Given the description of an element on the screen output the (x, y) to click on. 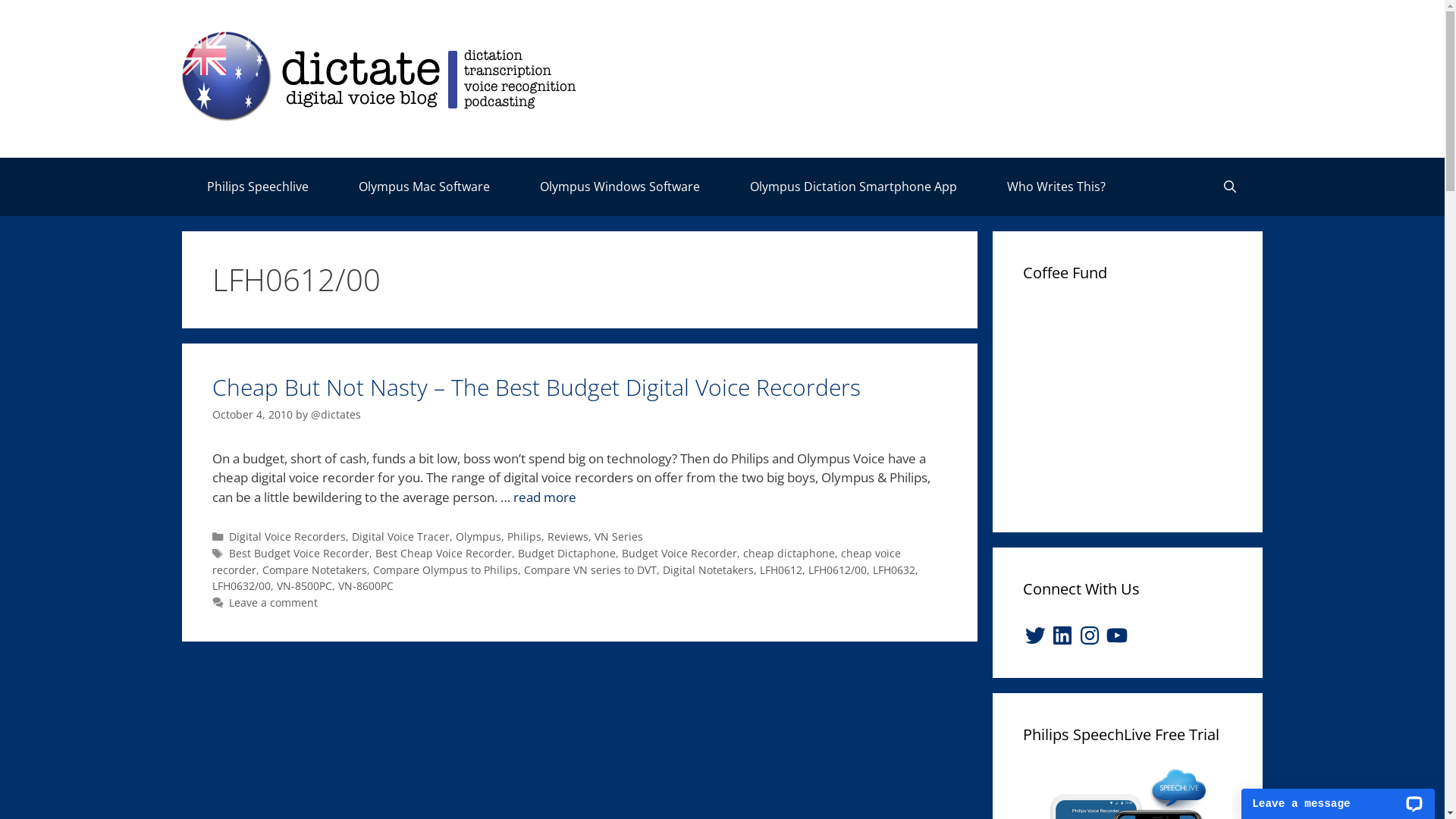
read more Element type: text (544, 496)
Compare VN series to DVT Element type: text (590, 569)
Olympus Windows Software Element type: text (619, 186)
LFH0632/00 Element type: text (241, 585)
Leave a comment Element type: text (273, 602)
Philips Speechlive Element type: text (257, 186)
Best Cheap Voice Recorder Element type: text (443, 553)
VN-8500PC Element type: text (304, 585)
Olympus Dictation Smartphone App Element type: text (853, 186)
Budget Voice Recorder Element type: text (679, 553)
YouTube Element type: text (1116, 635)
Olympus Element type: text (478, 536)
Digital Voice Tracer Element type: text (400, 536)
Compare Notetakers Element type: text (314, 569)
VN Series Element type: text (618, 536)
Instagram Element type: text (1089, 635)
Philips Element type: text (524, 536)
Twitter Element type: text (1034, 635)
Olympus Mac Software Element type: text (423, 186)
VN-8600PC Element type: text (365, 585)
LFH0612 Element type: text (780, 569)
Reviews Element type: text (567, 536)
@dictates Element type: text (335, 414)
cheap voice recorder Element type: text (556, 561)
Advertisement Element type: hover (1136, 401)
Digital Notetakers Element type: text (707, 569)
Budget Dictaphone Element type: text (566, 553)
Best Budget Voice Recorder Element type: text (299, 553)
LFH0632 Element type: text (893, 569)
Compare Olympus to Philips Element type: text (445, 569)
cheap dictaphone Element type: text (788, 553)
LinkedIn Element type: text (1062, 635)
LFH0612/00 Element type: text (837, 569)
Digital Voice Recorders Element type: text (287, 536)
Who Writes This? Element type: text (1056, 186)
